Given the description of an element on the screen output the (x, y) to click on. 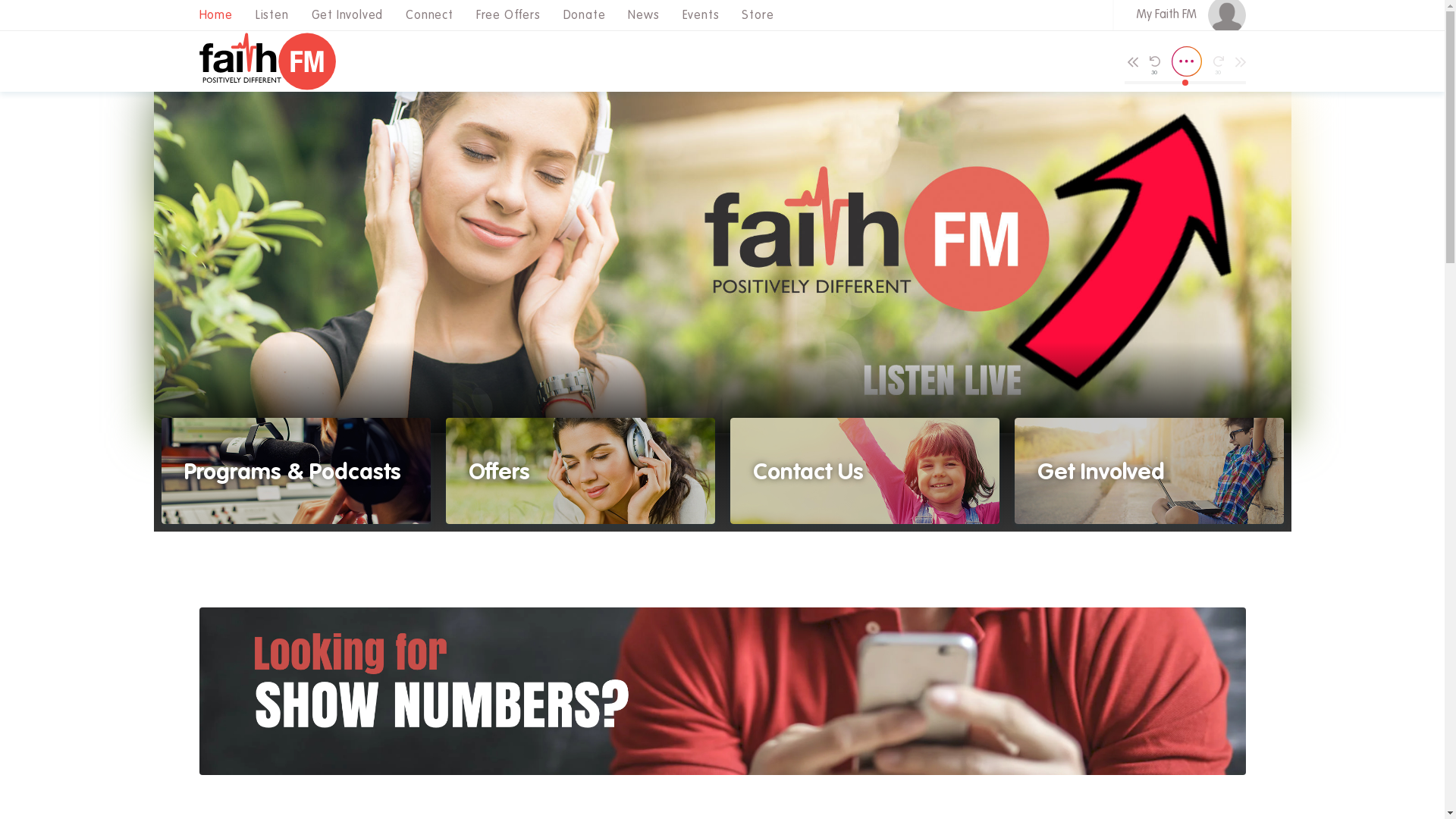
Donate Element type: text (584, 15)
Free Offers Element type: text (508, 15)
Programs & Podcasts Element type: text (294, 470)
Connect Element type: text (429, 15)
Get Involved Element type: text (347, 15)
Home Element type: text (216, 15)
Store Element type: text (757, 15)
News Element type: text (643, 15)
Events Element type: text (701, 15)
Listen Element type: text (272, 15)
Offers Element type: text (580, 470)
Get Involved Element type: text (1148, 470)
Contact Us Element type: text (863, 470)
